Given the description of an element on the screen output the (x, y) to click on. 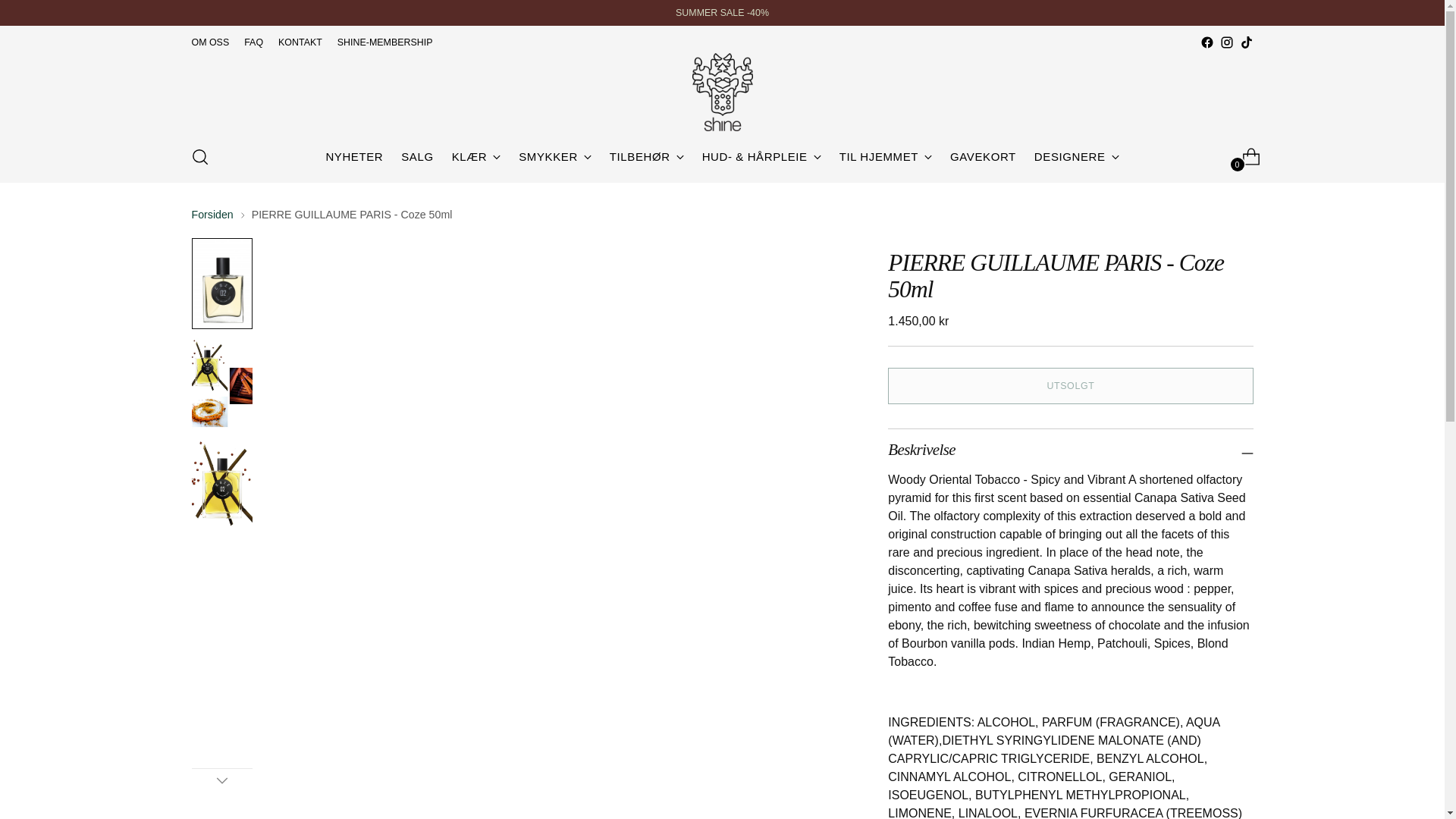
NYHETER (353, 156)
SHINE-MEMBERSHIP (384, 41)
SALG (416, 156)
Shine on Instagram (1226, 42)
KONTAKT (299, 41)
Shine on Facebook (1205, 42)
Shine on Tiktok (1245, 42)
Down (220, 780)
OM OSS (209, 41)
